Given the description of an element on the screen output the (x, y) to click on. 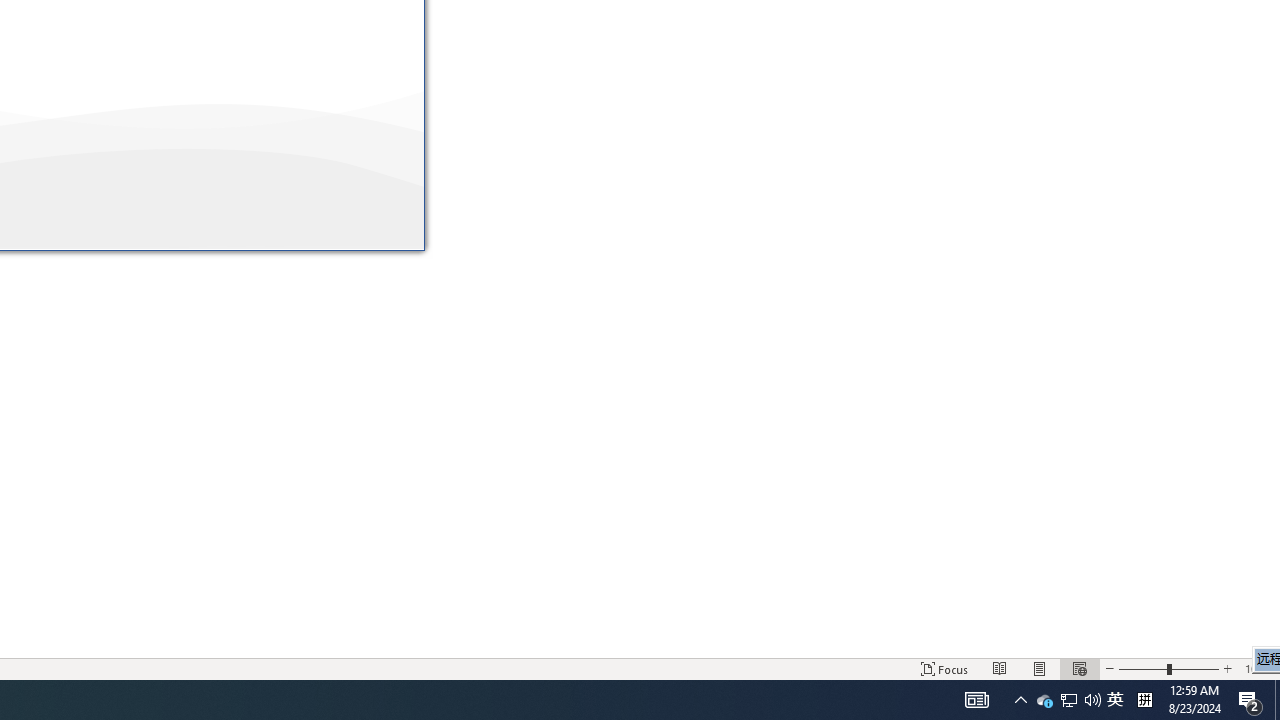
Zoom 100% (1115, 699)
Tray Input Indicator - Chinese (Simplified, China) (1258, 668)
